Given the description of an element on the screen output the (x, y) to click on. 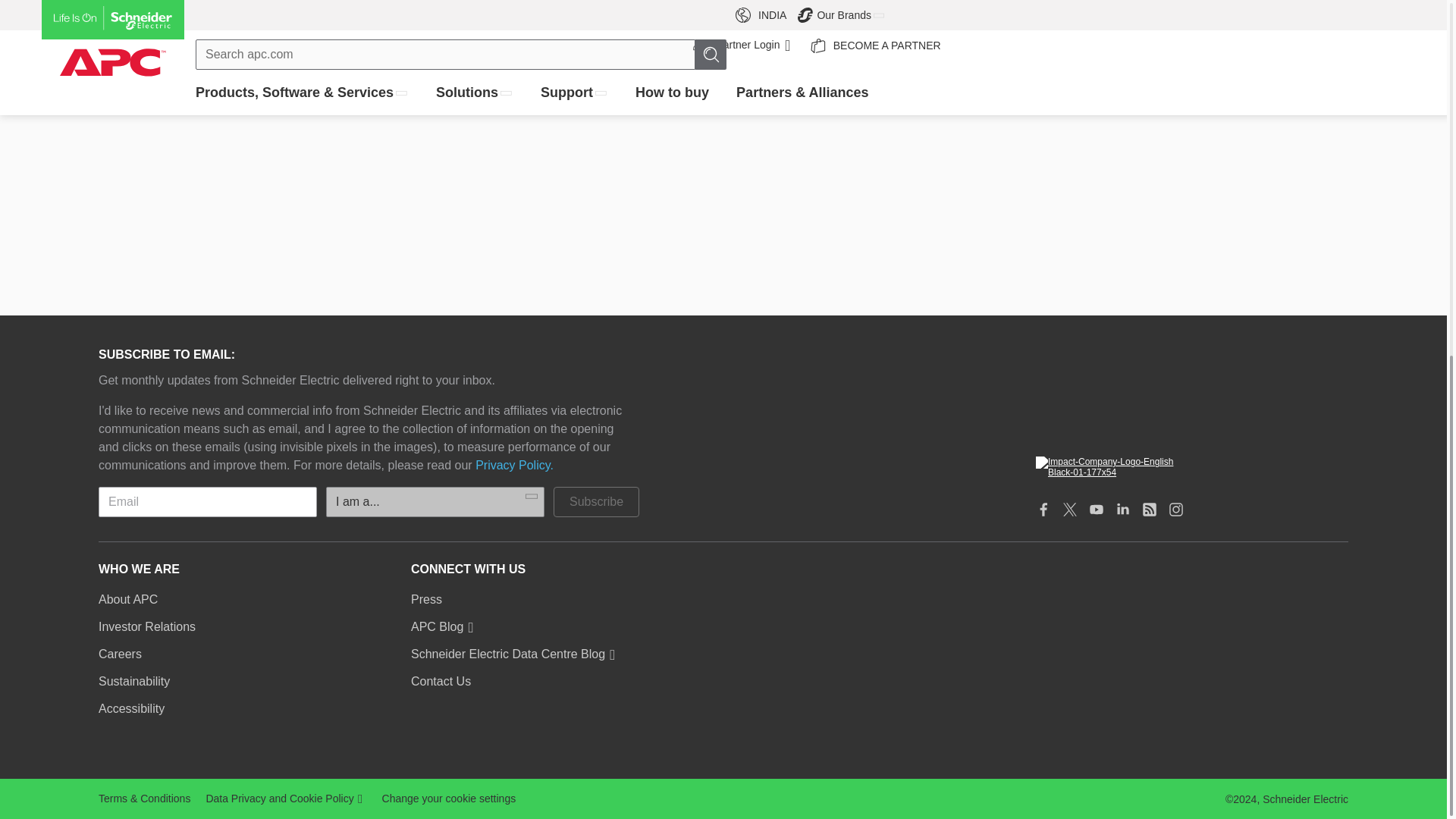
Subscribe (596, 501)
Privacy Policy. (514, 465)
Twitter (1069, 509)
About APC (128, 599)
Privacy Policy. (514, 465)
LinkedIn (1123, 509)
YouTube (1096, 509)
Facebook (1043, 509)
RSS (1149, 509)
Instagram (1176, 509)
Sustainability (1191, 466)
